Given the description of an element on the screen output the (x, y) to click on. 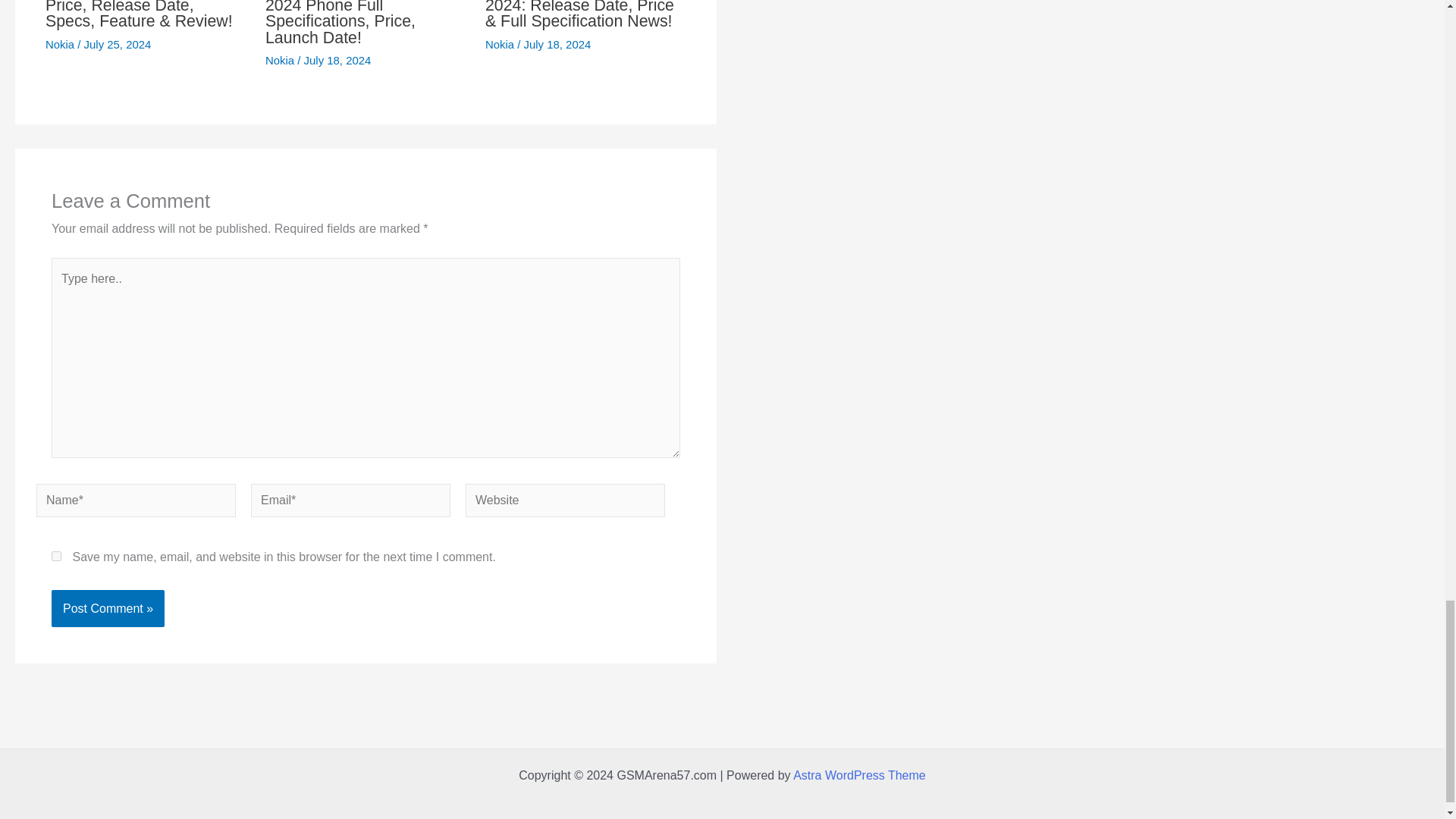
yes (55, 556)
